Given the description of an element on the screen output the (x, y) to click on. 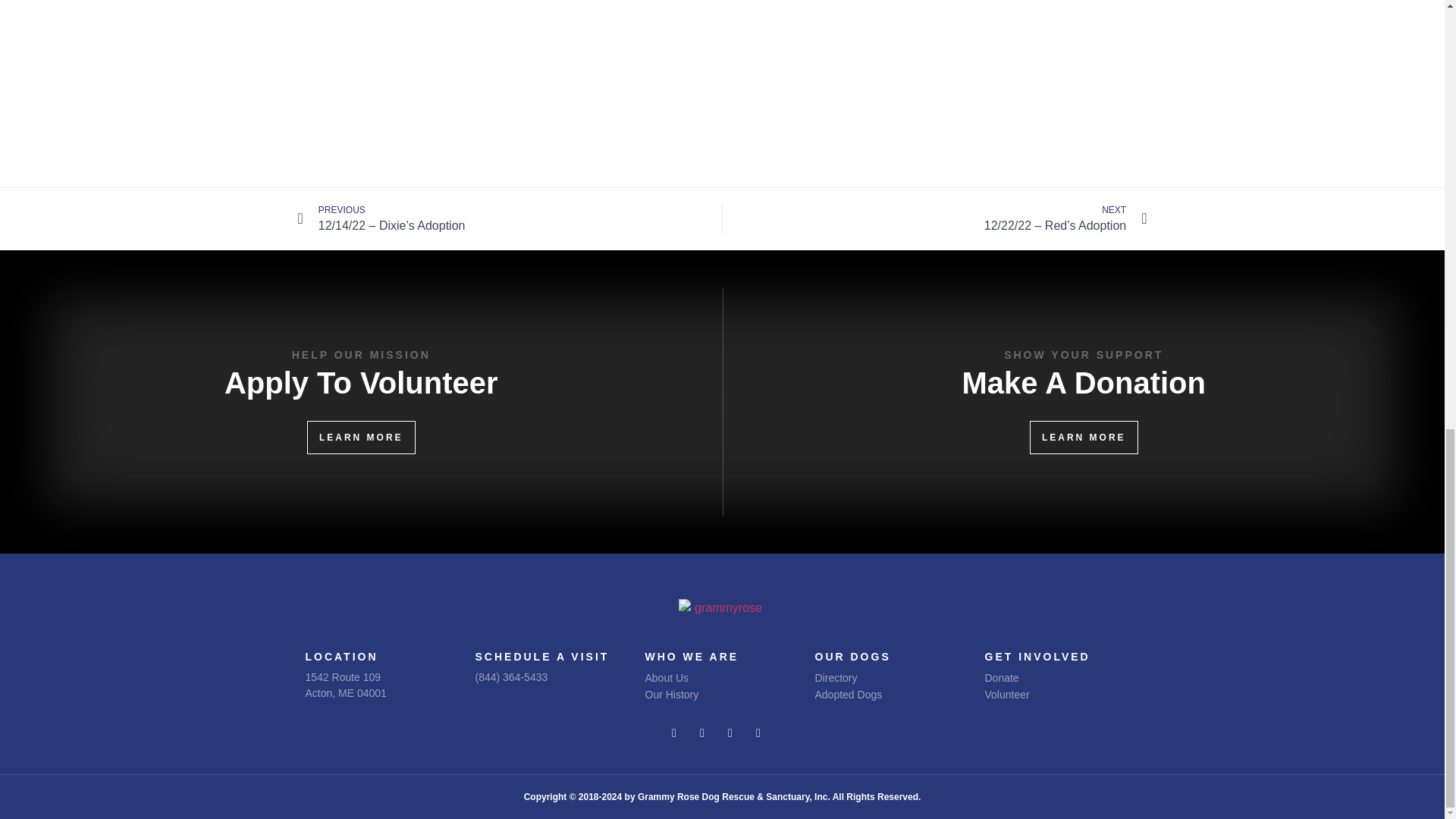
Our History (708, 694)
LEARN MORE (1083, 437)
LEARN MORE (360, 437)
Directory (884, 677)
About Us (344, 684)
